Given the description of an element on the screen output the (x, y) to click on. 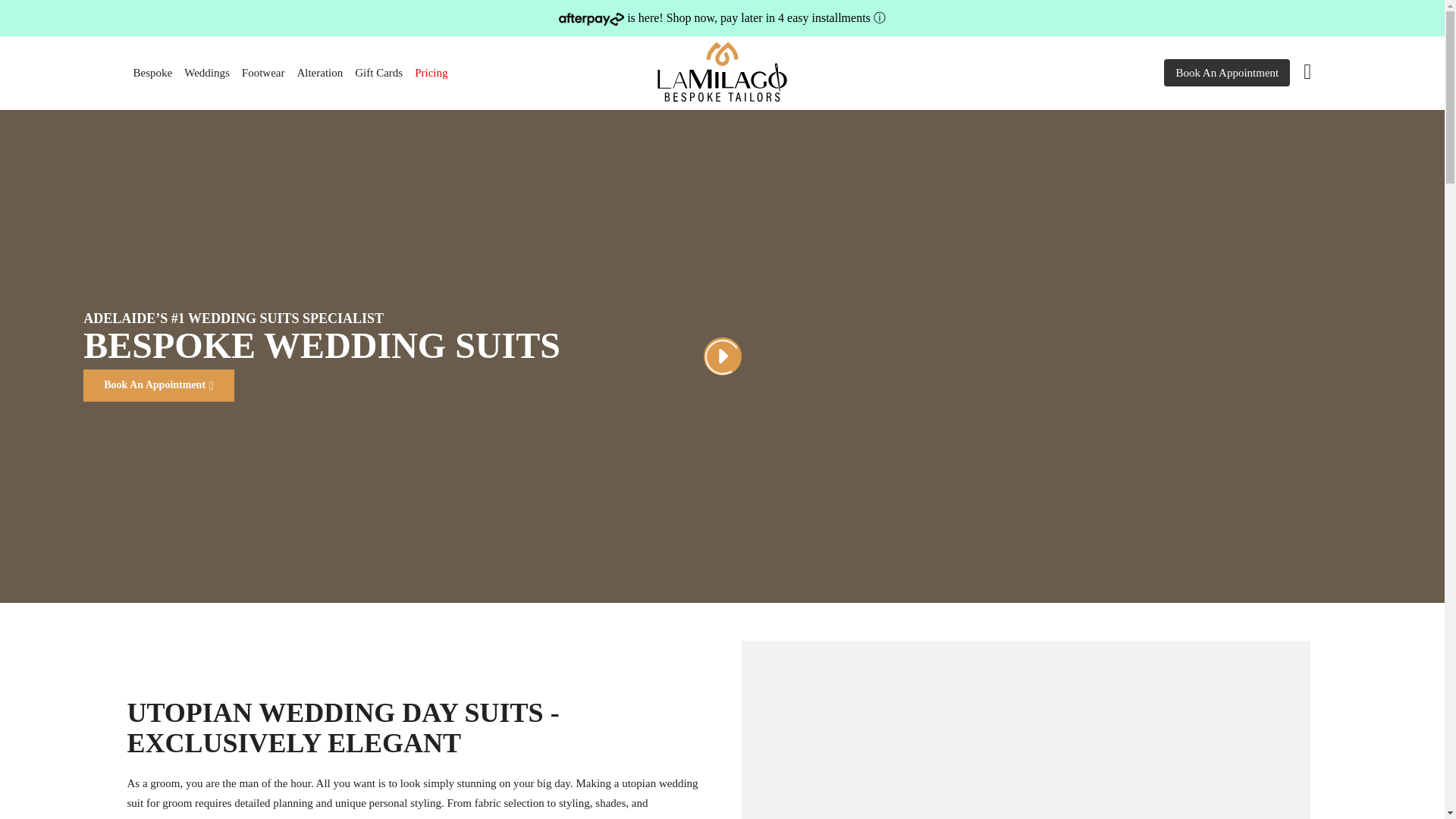
Bespoke (153, 72)
Pricing (430, 72)
Weddings (206, 72)
Alteration (319, 72)
Book An Appointment (1226, 72)
Book An Appointment (158, 385)
Gift Cards (379, 72)
Footwear (263, 72)
